Given the description of an element on the screen output the (x, y) to click on. 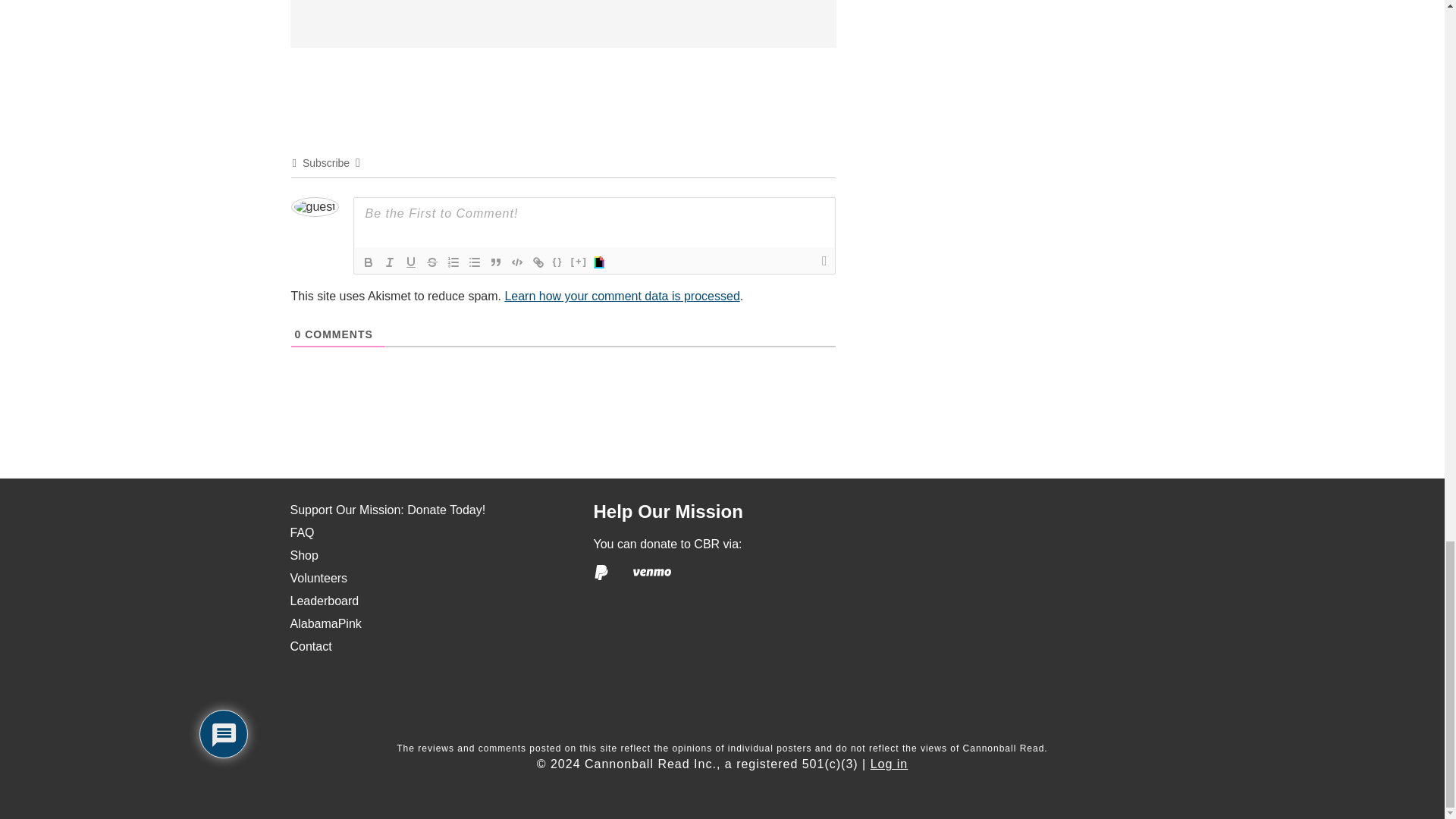
PayPal (600, 572)
Venmo (652, 572)
